Given the description of an element on the screen output the (x, y) to click on. 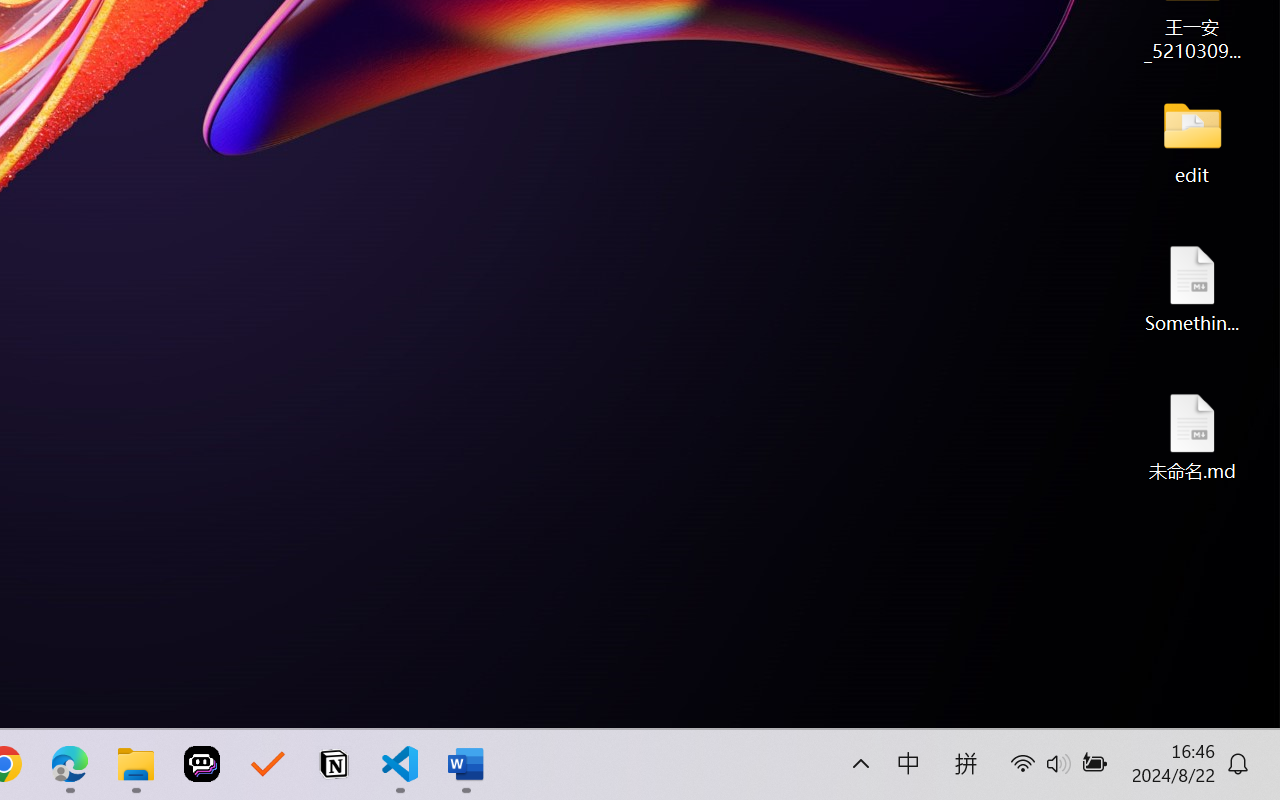
Something.md (1192, 288)
